Given the description of an element on the screen output the (x, y) to click on. 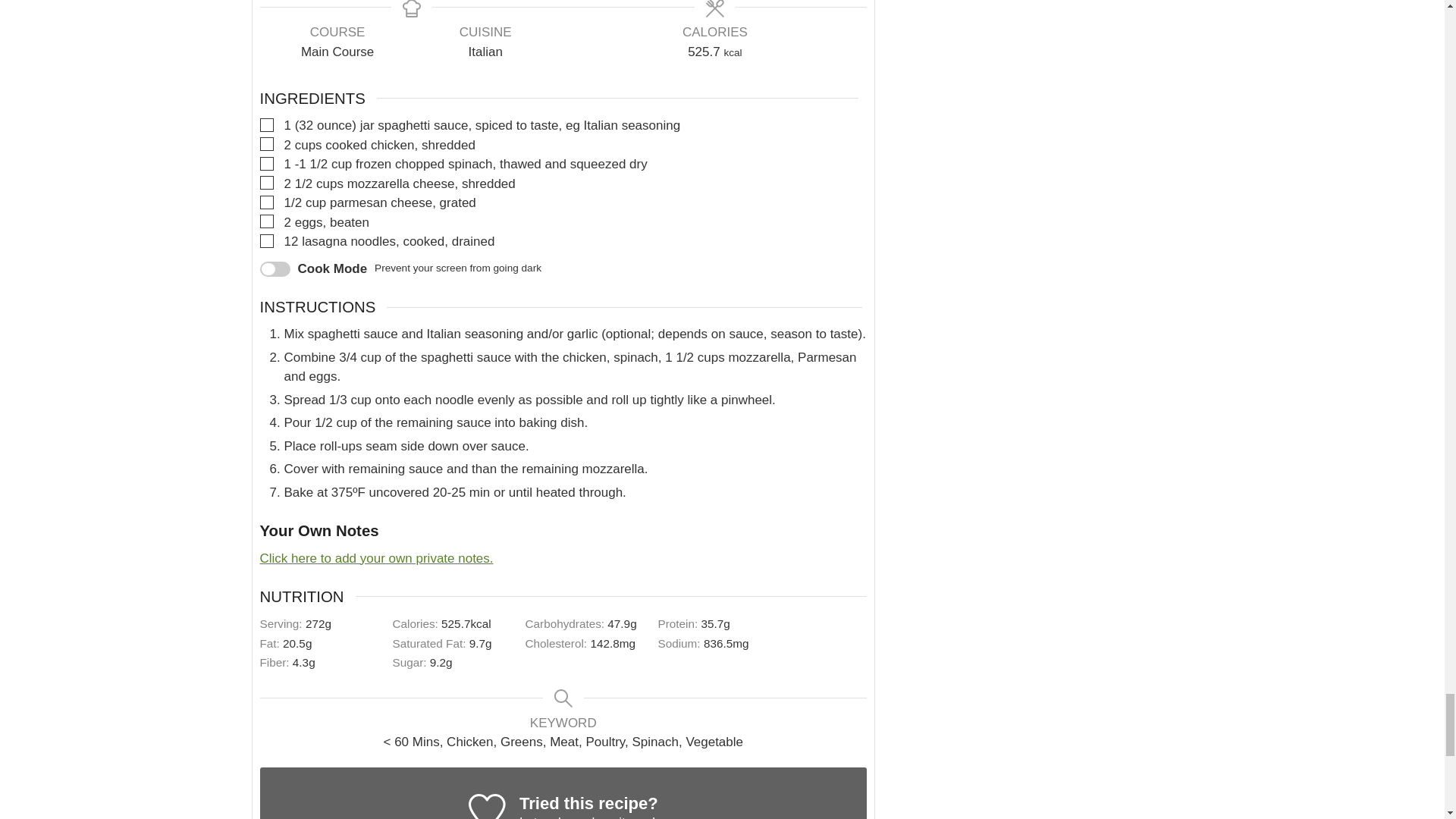
Click here to add your own private notes. (376, 558)
Let us know (553, 816)
